Given the description of an element on the screen output the (x, y) to click on. 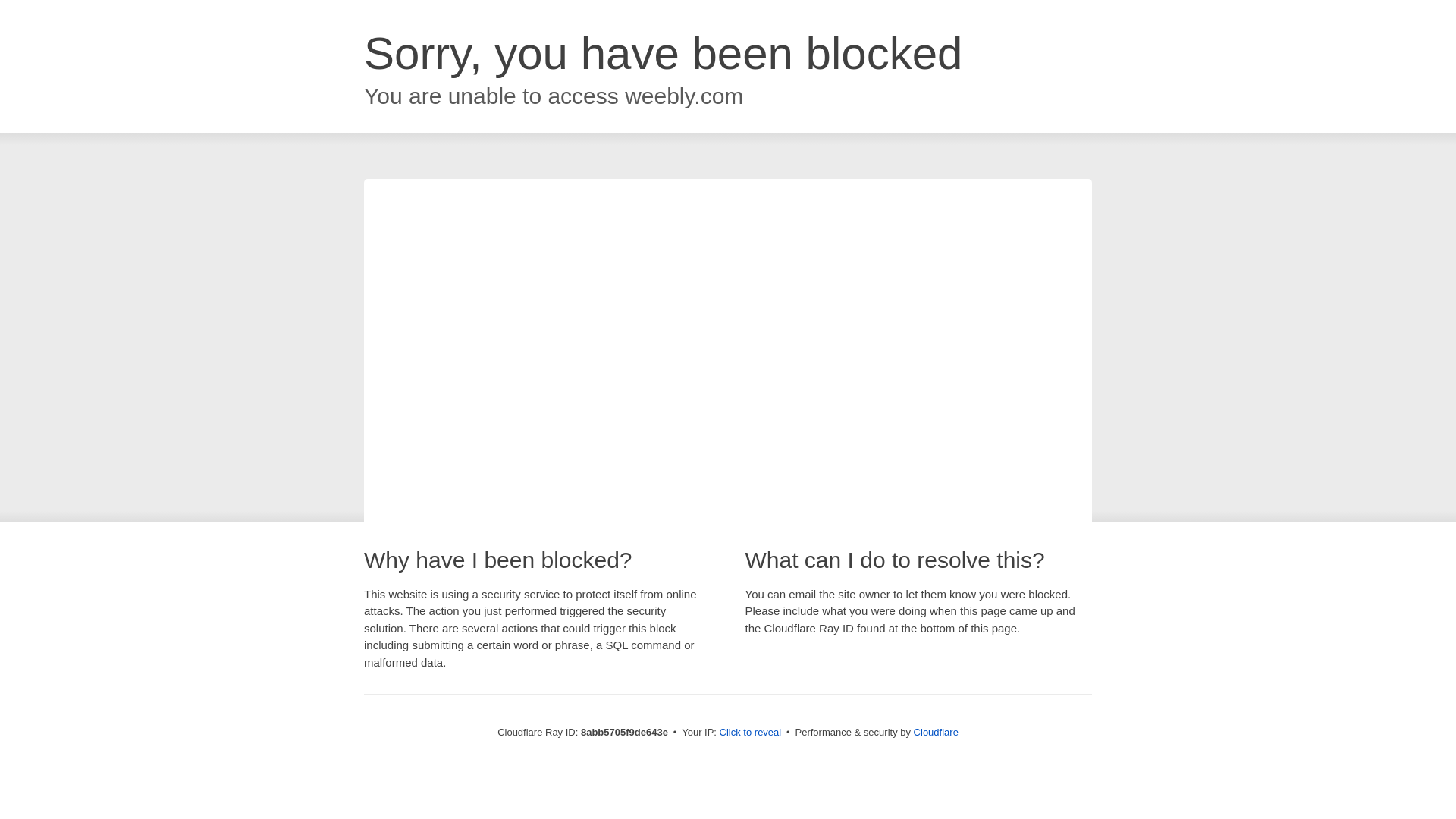
Cloudflare (936, 731)
Click to reveal (750, 732)
